Given the description of an element on the screen output the (x, y) to click on. 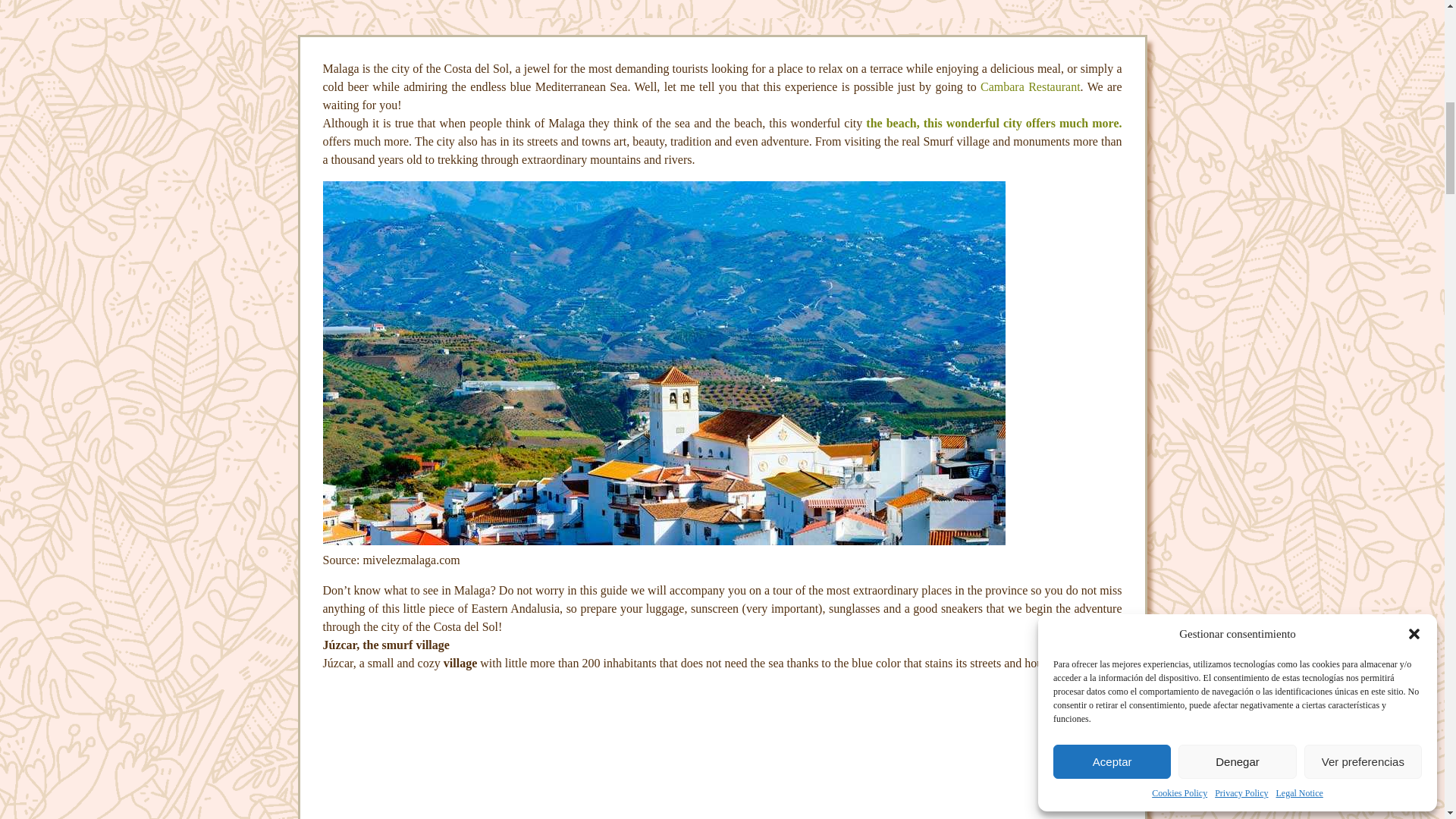
Cambara Restaurant (1029, 86)
the beach, this wonderful city offers much more. (993, 123)
